Given the description of an element on the screen output the (x, y) to click on. 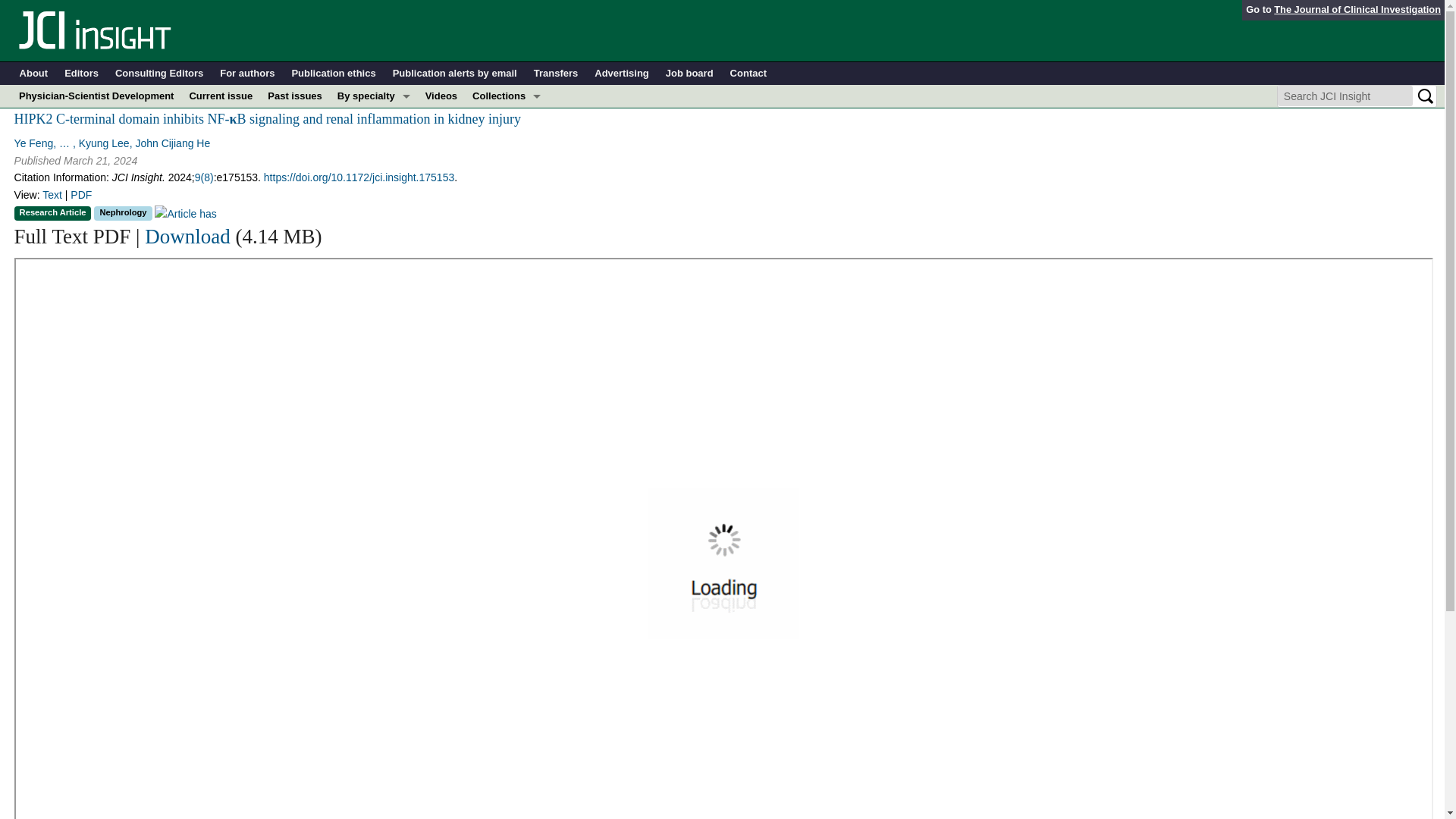
Pulmonology (373, 255)
Publication ethics (333, 73)
The Journal of Clinical Investigation (1357, 9)
Transfers (556, 73)
Nephrology (373, 210)
By specialty (373, 96)
Perspectives (506, 210)
Oncology (373, 232)
Collections (506, 96)
Metabolism (373, 187)
